Given the description of an element on the screen output the (x, y) to click on. 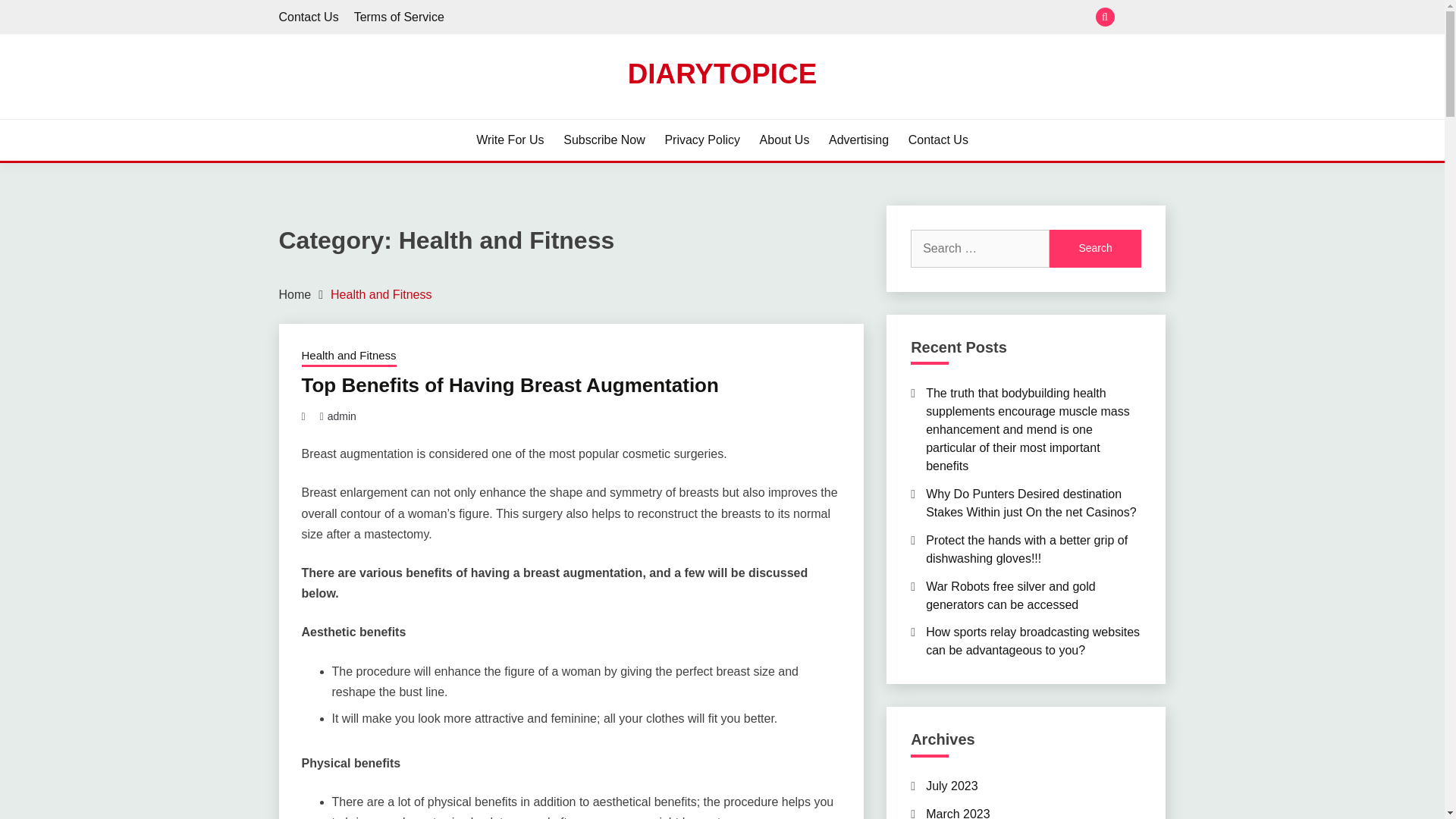
Home (295, 294)
Search (832, 18)
Contact Us (938, 140)
Health and Fitness (348, 356)
Health and Fitness (380, 294)
Terms of Service (1156, 16)
Search (1095, 248)
Contact Us (309, 16)
Search (1095, 248)
admin (341, 416)
